Given the description of an element on the screen output the (x, y) to click on. 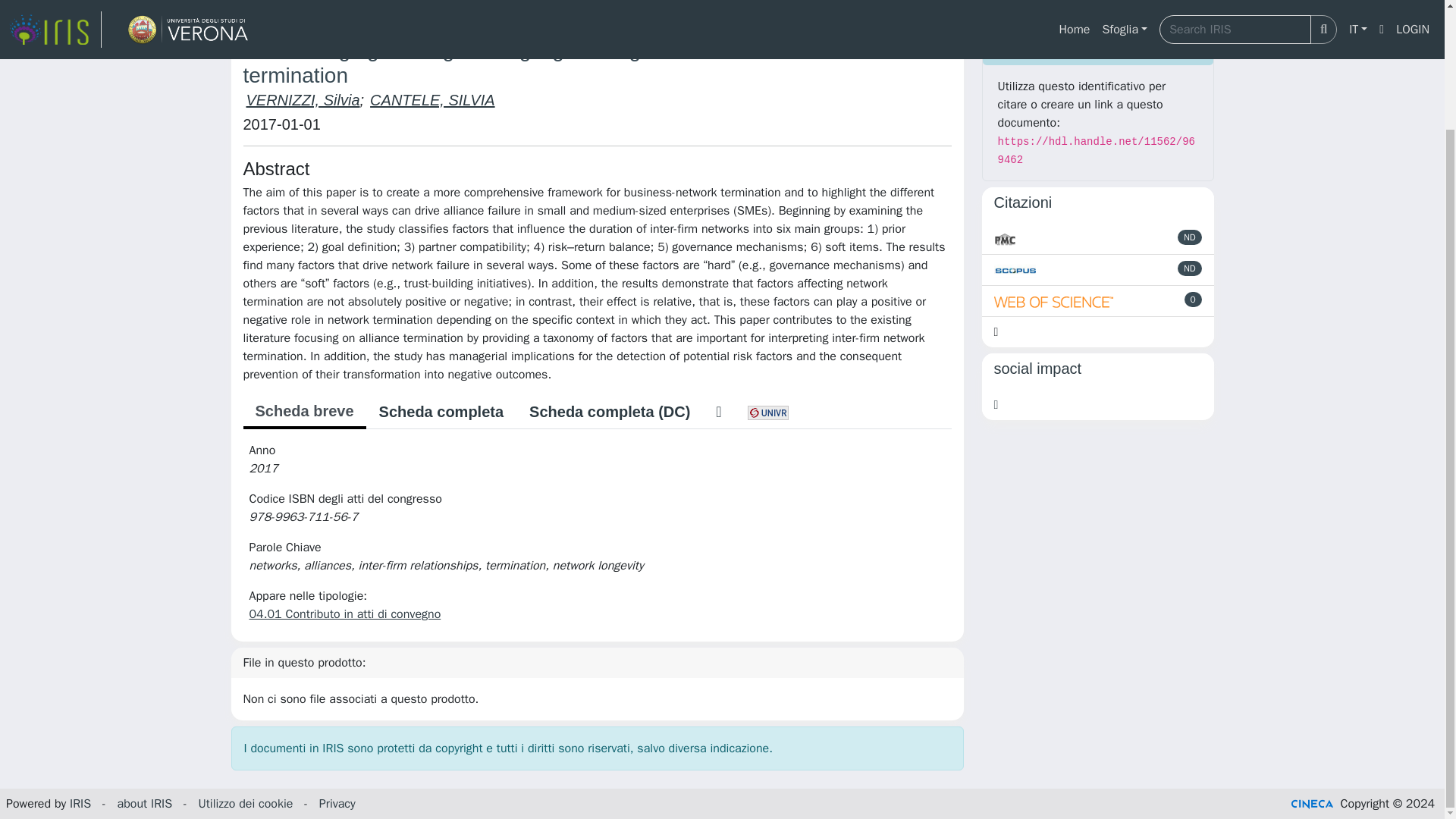
Scheda breve (304, 412)
04.01 Contributo in atti di convegno (344, 613)
 Informazioni (1097, 45)
IRIS (240, 5)
04 Contributo in atti di convegno (451, 5)
aggiornato in data 22-07-2024 18:40 (1193, 299)
CANTELE, SILVIA (432, 99)
Scheda completa (441, 411)
04.01 Contributo in atti di convegno (652, 5)
SIARI VERONA (308, 5)
VERNIZZI, Silvia (302, 99)
